Given the description of an element on the screen output the (x, y) to click on. 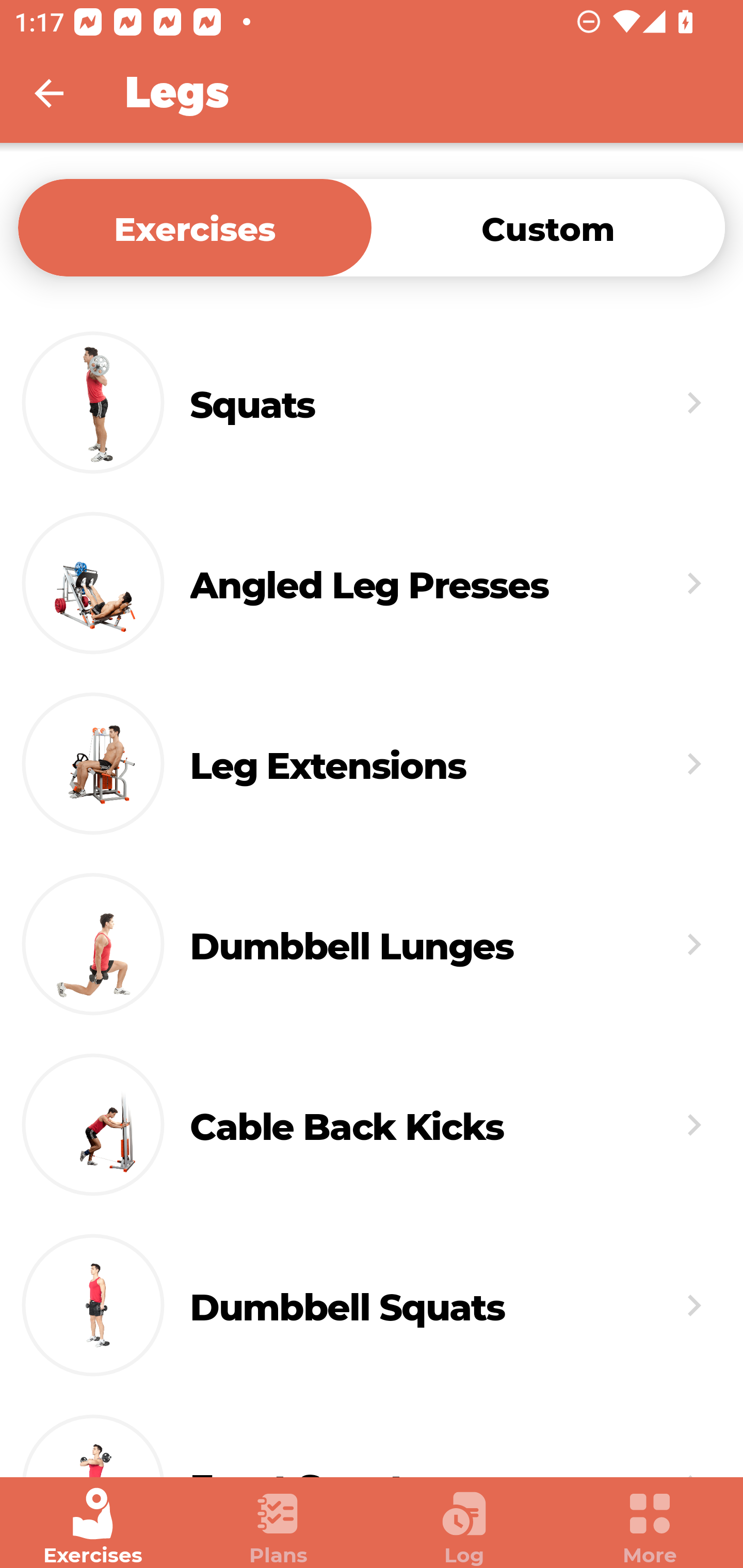
Back (62, 92)
Exercises (194, 226)
Custom (548, 226)
Exercises (92, 1527)
Plans (278, 1527)
Log (464, 1527)
More (650, 1527)
